Given the description of an element on the screen output the (x, y) to click on. 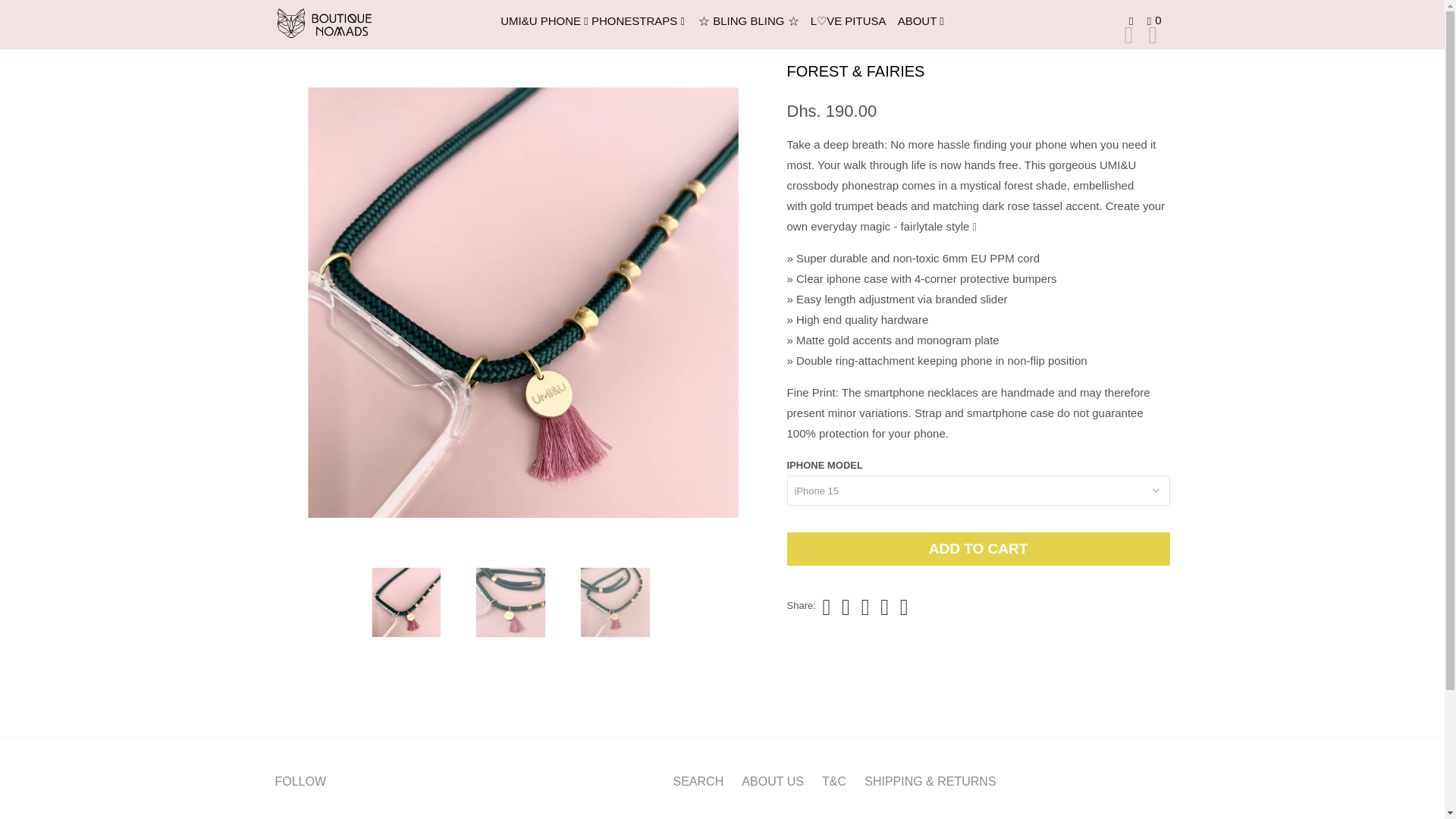
Email Boutique Nomads (340, 815)
Boutique Nomads on Facebook (286, 815)
ABOUT (922, 21)
Boutique Nomads (352, 24)
Boutique Nomads on Instagram (312, 815)
